Given the description of an element on the screen output the (x, y) to click on. 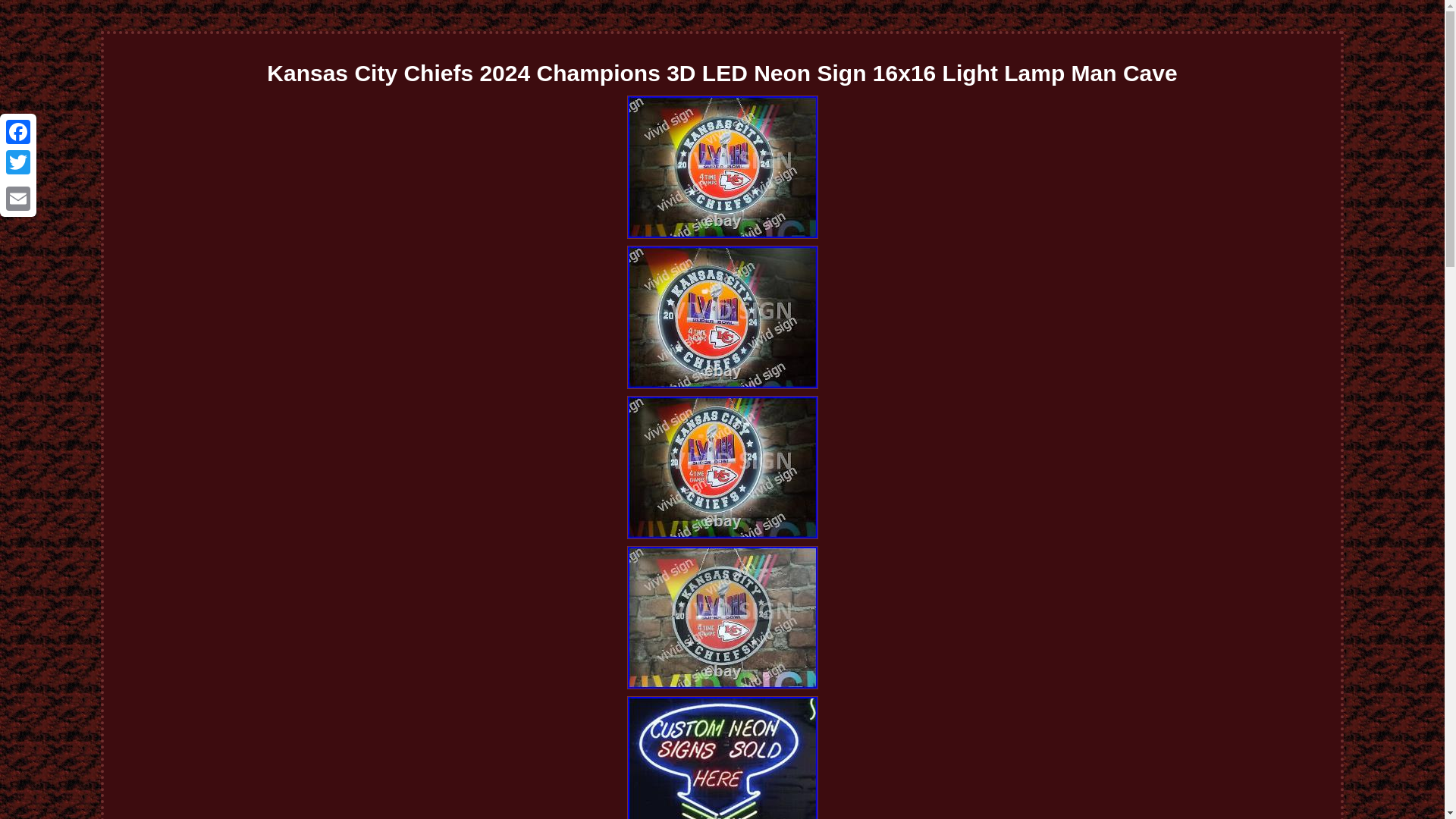
Email (17, 198)
Twitter (17, 162)
Facebook (17, 132)
